Given the description of an element on the screen output the (x, y) to click on. 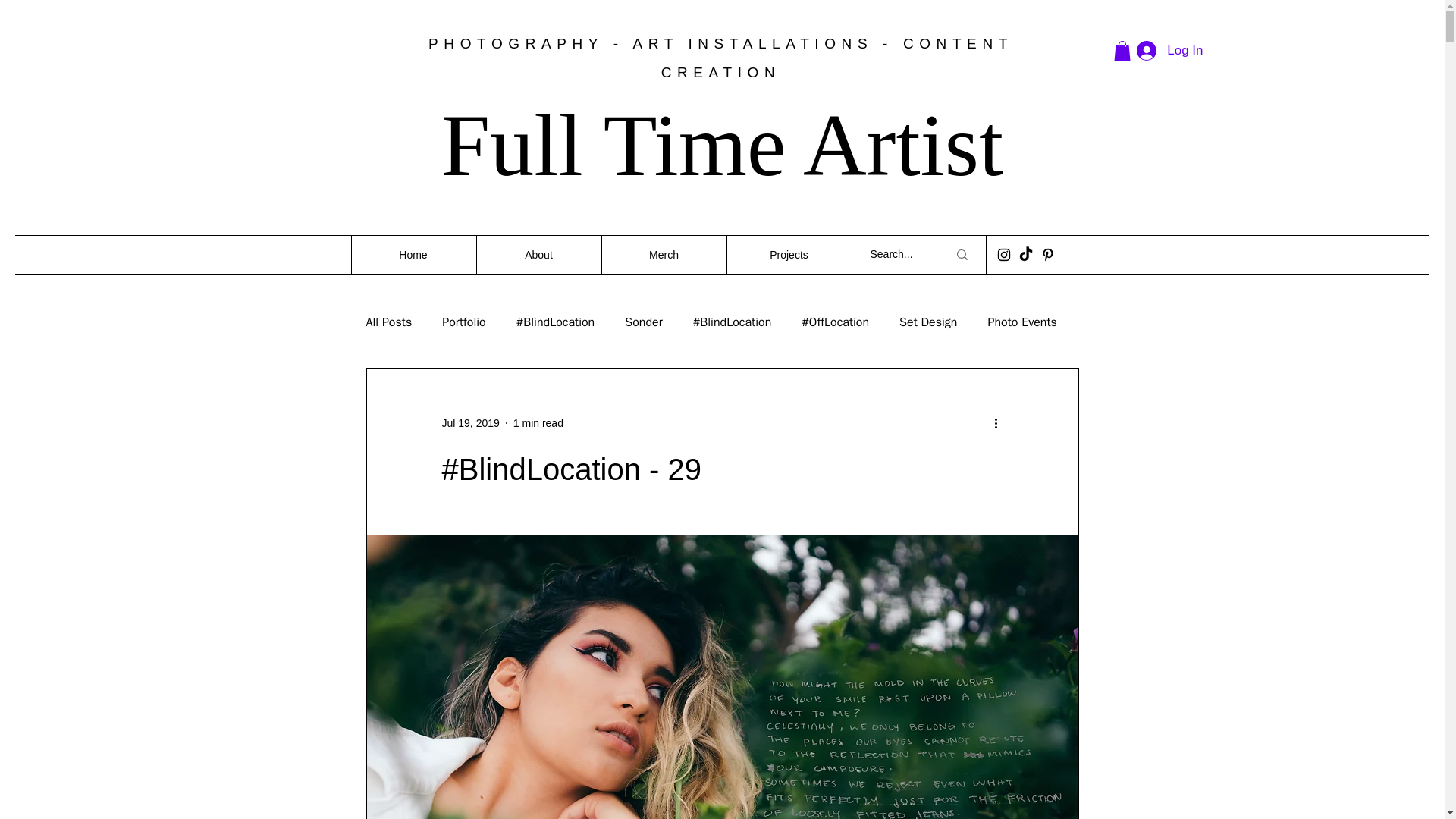
Home (413, 254)
Sonder (643, 321)
Projects (788, 254)
Full Time Artist (722, 145)
Set Design (927, 321)
1 min read (538, 422)
All Posts (388, 321)
Merch (662, 254)
Photo Events (1022, 321)
Jul 19, 2019 (470, 422)
Portfolio (464, 321)
About (538, 254)
Log In (1168, 50)
